Given the description of an element on the screen output the (x, y) to click on. 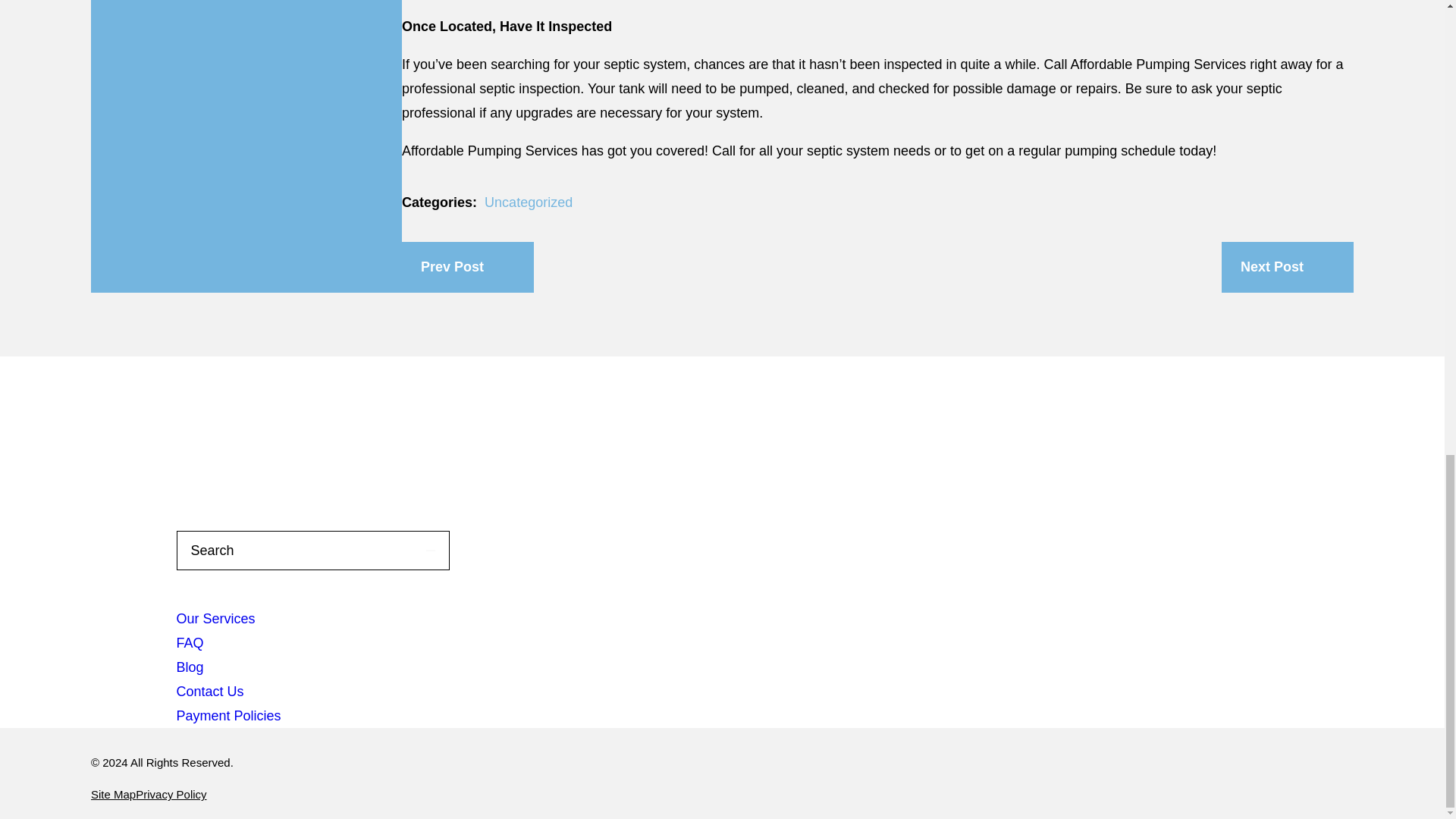
Facebook (236, 437)
Twitter (389, 437)
